Given the description of an element on the screen output the (x, y) to click on. 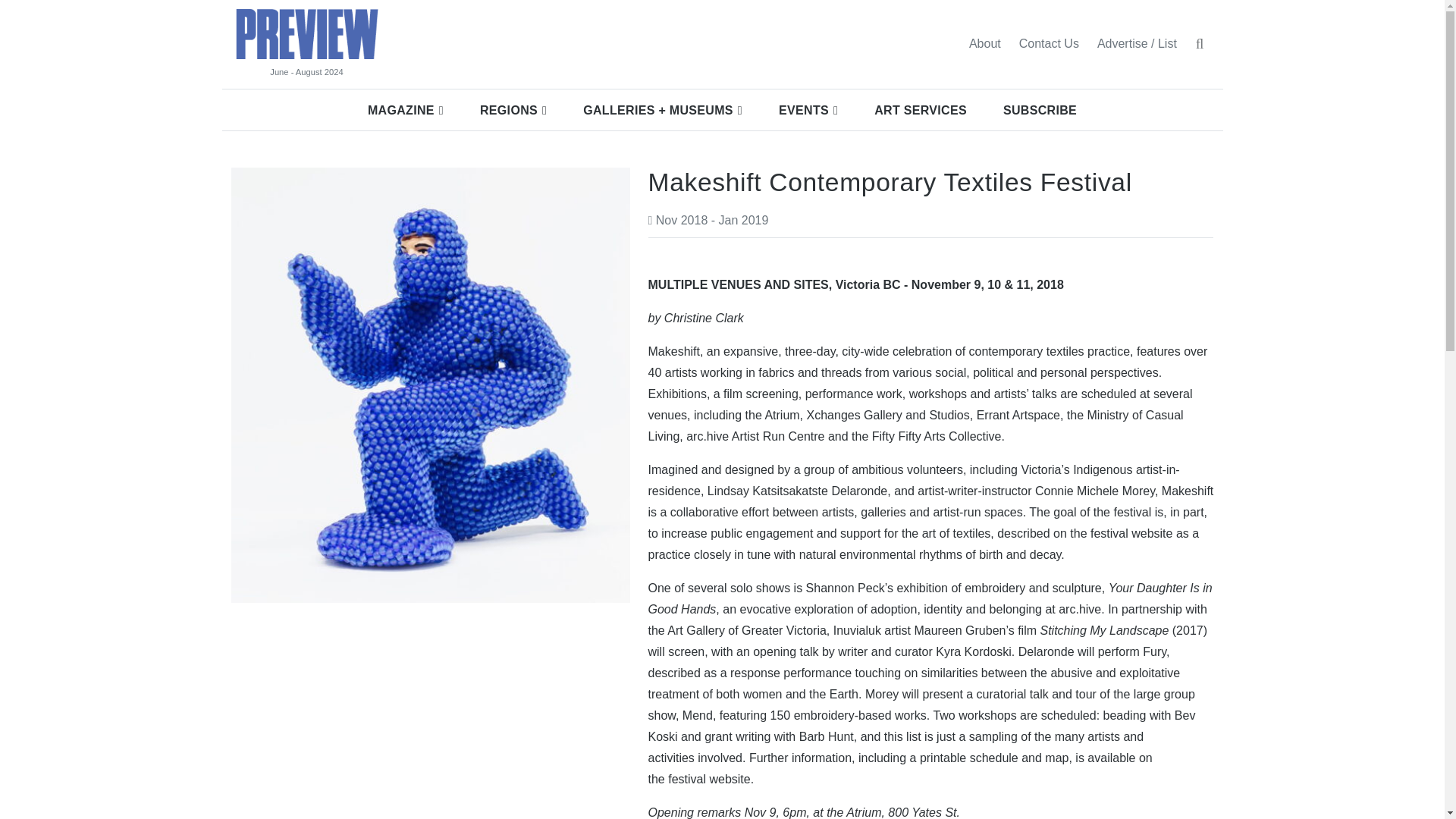
ART SERVICES (920, 110)
EVENTS (808, 110)
Nov 2018 - Jan 2019 (707, 219)
MAGAZINE (405, 110)
About (984, 43)
Contact Us (1048, 43)
REGIONS (512, 110)
June - August 2024 (305, 71)
SUBSCRIBE (1039, 110)
